Given the description of an element on the screen output the (x, y) to click on. 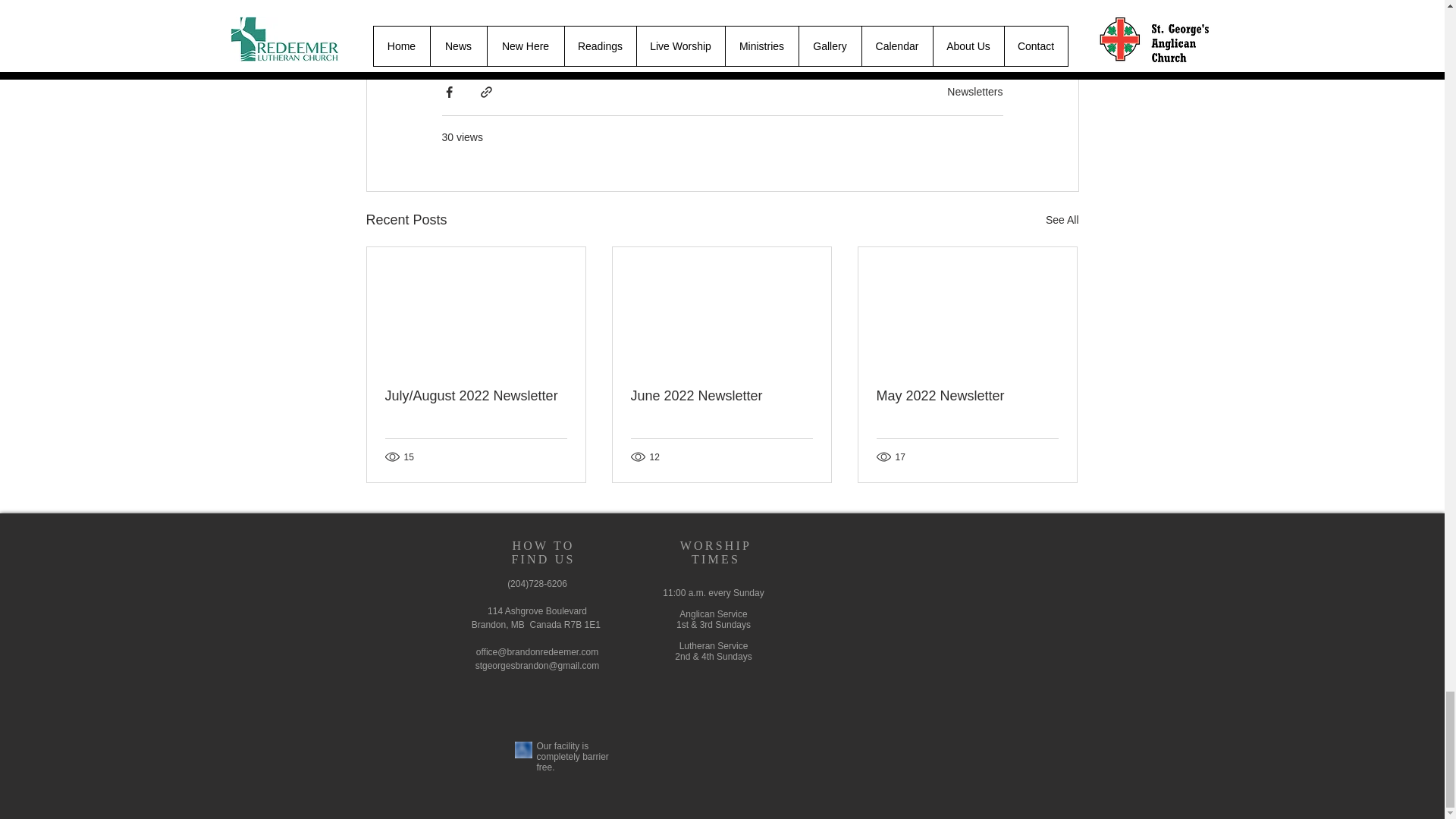
See All (1061, 219)
June 2022 Newsletter (721, 396)
May 2022 Newsletter (967, 396)
Newsletters (975, 91)
